Given the description of an element on the screen output the (x, y) to click on. 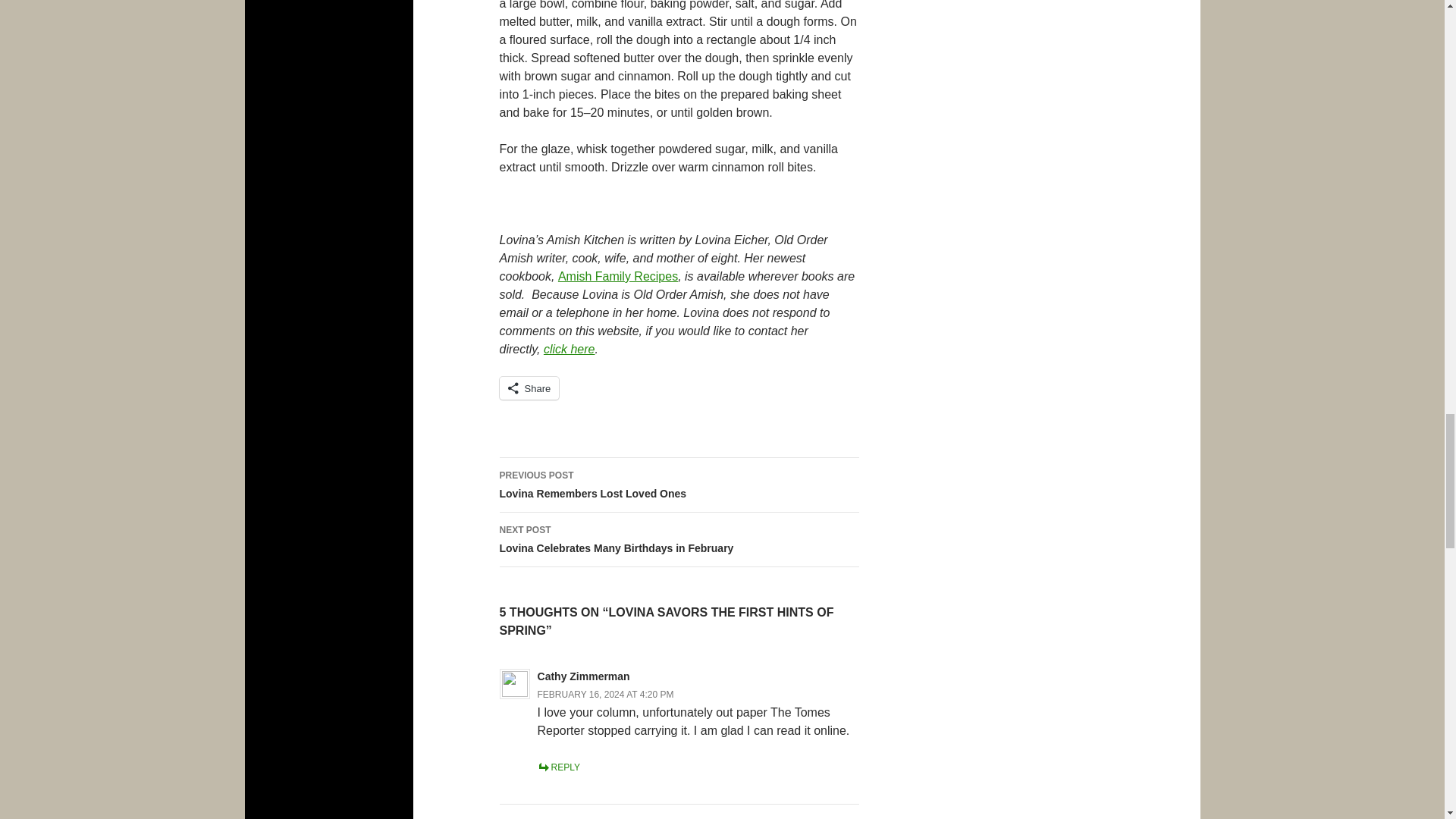
Amish Family Recipes (617, 276)
Share (529, 387)
click here (569, 349)
